Given the description of an element on the screen output the (x, y) to click on. 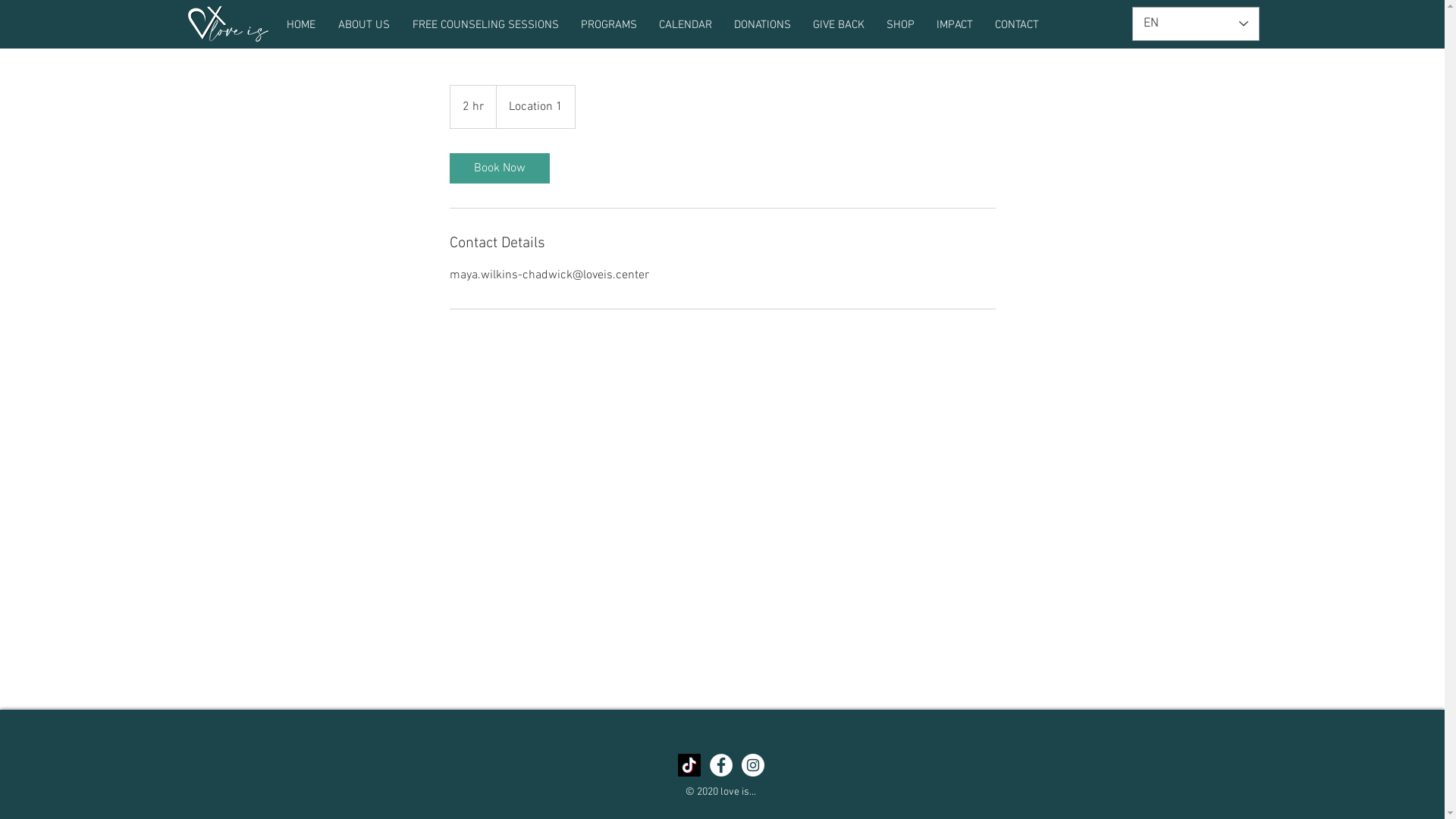
DONATIONS Element type: text (762, 24)
Book Now Element type: text (498, 168)
HOME Element type: text (300, 24)
ABOUT US Element type: text (363, 24)
CALENDAR Element type: text (684, 24)
PROGRAMS Element type: text (609, 24)
GIVE BACK Element type: text (838, 24)
IMPACT Element type: text (954, 24)
CONTACT Element type: text (1017, 24)
SHOP Element type: text (900, 24)
FREE COUNSELING SESSIONS Element type: text (484, 24)
